Given the description of an element on the screen output the (x, y) to click on. 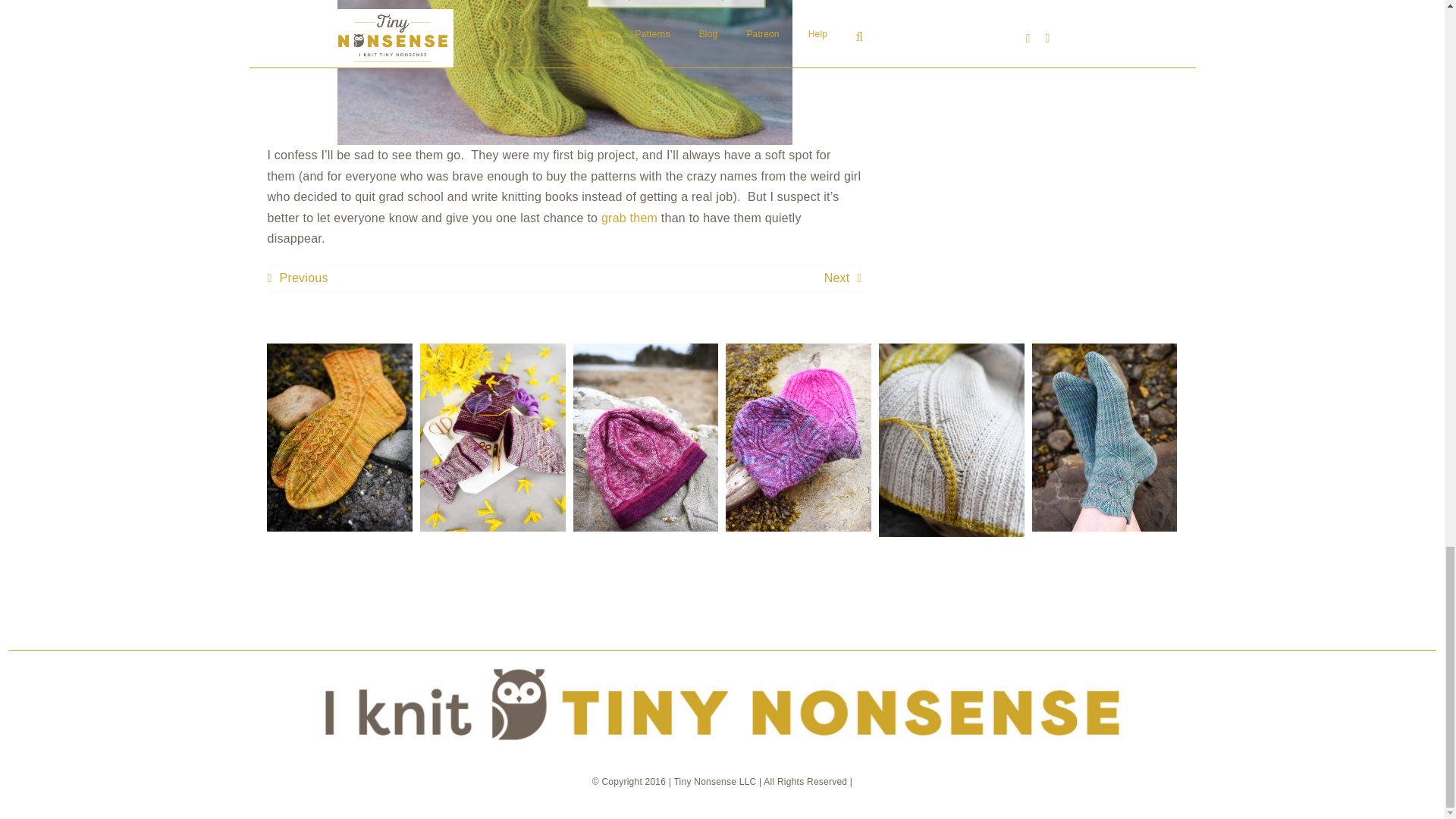
Next (842, 278)
grab them (629, 217)
Previous (296, 278)
